Given the description of an element on the screen output the (x, y) to click on. 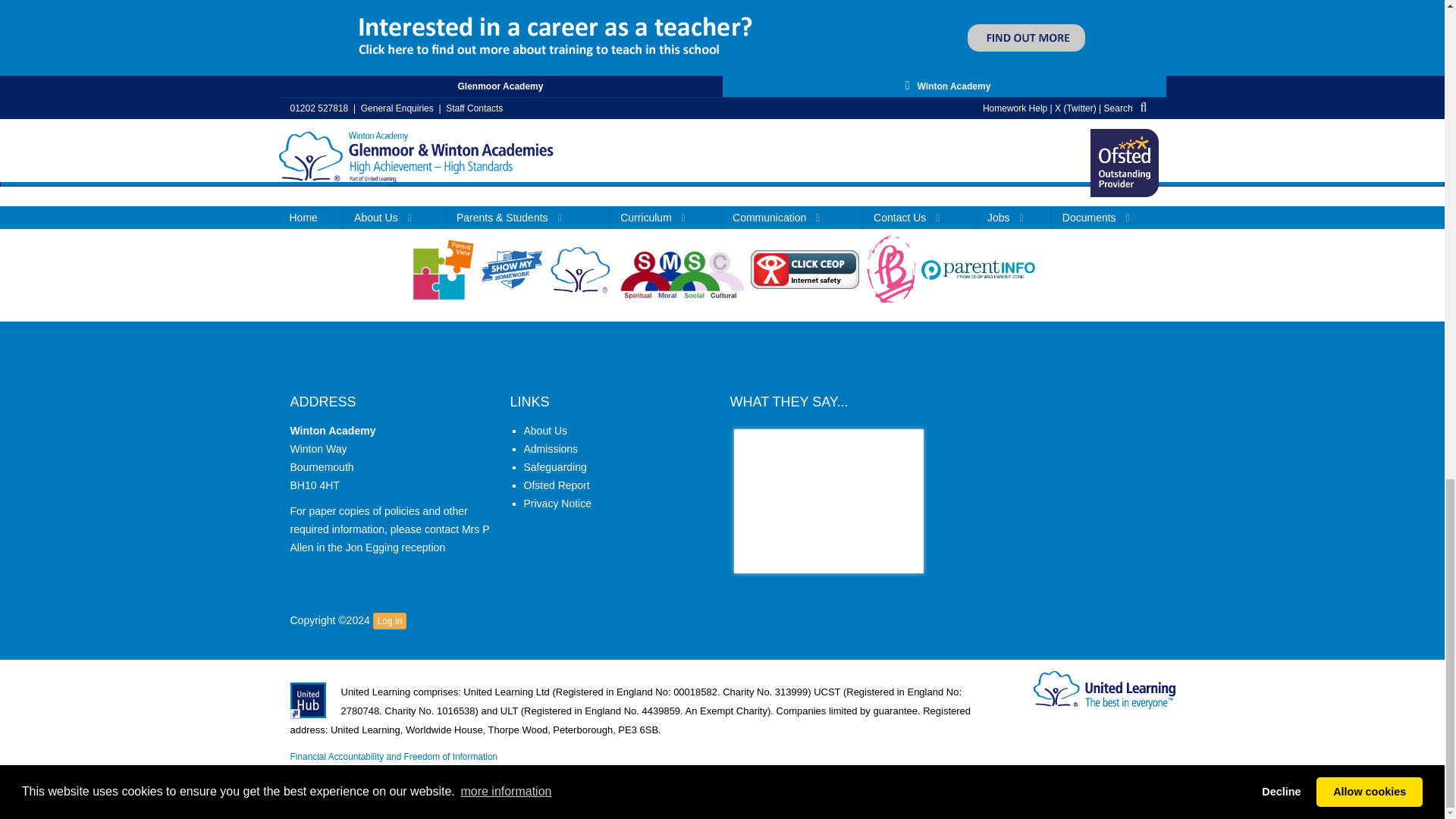
United Learning (1104, 689)
